Given the description of an element on the screen output the (x, y) to click on. 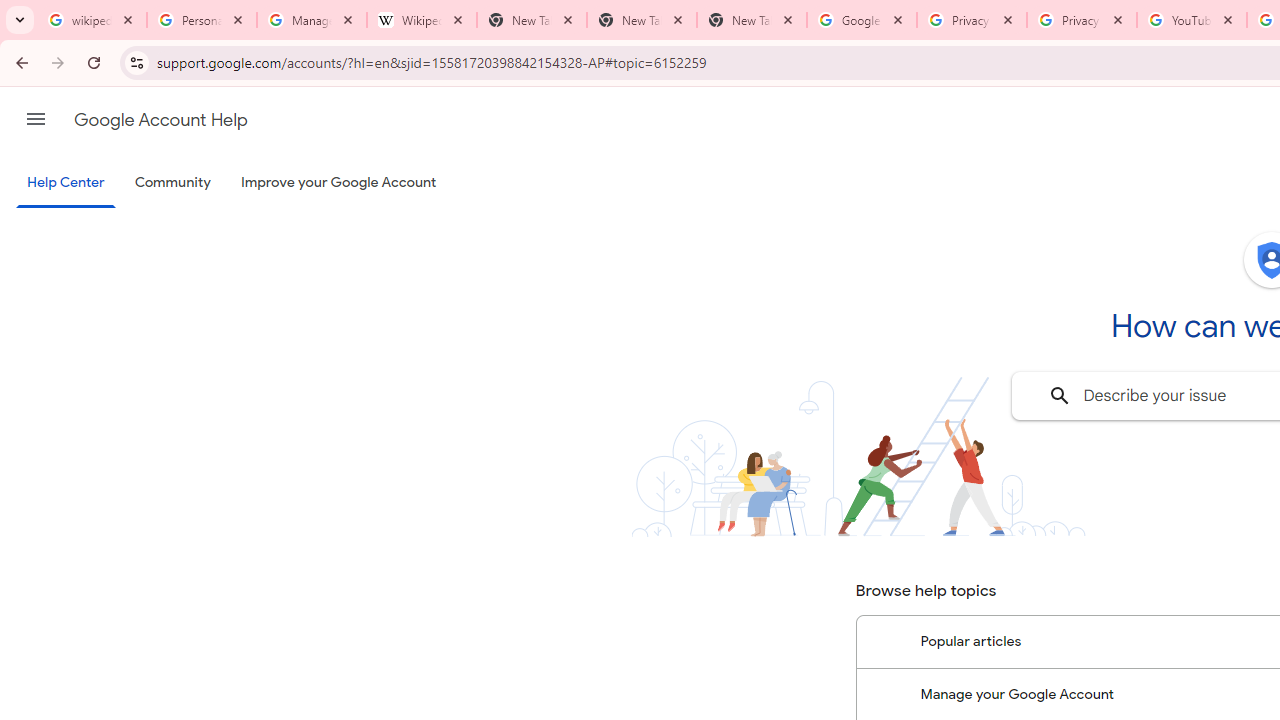
YouTube (1191, 20)
Google Account Help (160, 119)
Manage your Location History - Google Search Help (312, 20)
Main menu (35, 119)
Wikipedia:Edit requests - Wikipedia (422, 20)
New Tab (642, 20)
